Given the description of an element on the screen output the (x, y) to click on. 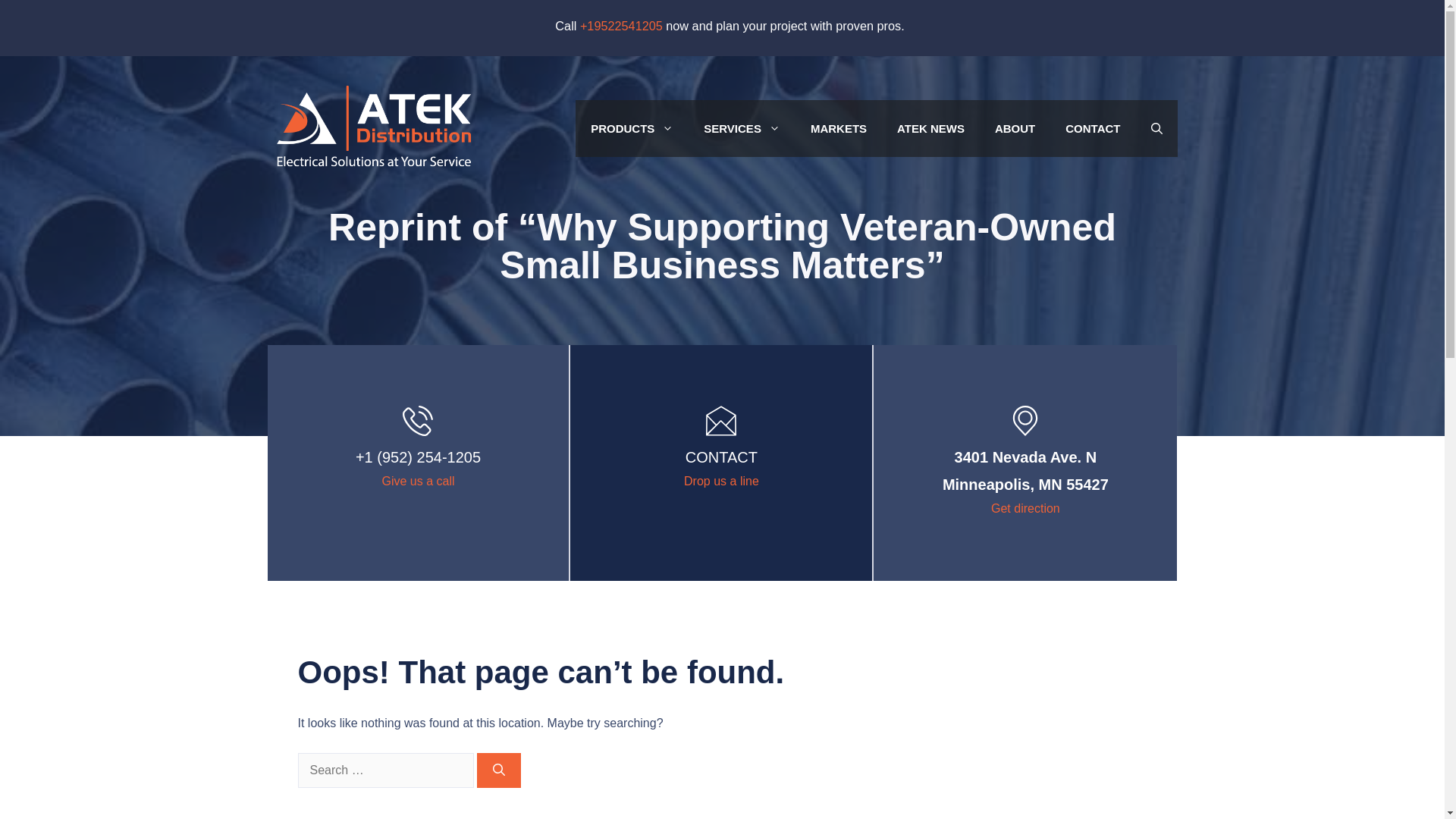
Search for: (385, 769)
Give us a call (417, 481)
Drop us a line (1025, 470)
ATEK NEWS (721, 481)
MARKETS (930, 128)
CONTACT (838, 128)
SERVICES (721, 457)
ABOUT (741, 128)
CONTACT (1014, 128)
PRODUCTS (1092, 128)
